Given the description of an element on the screen output the (x, y) to click on. 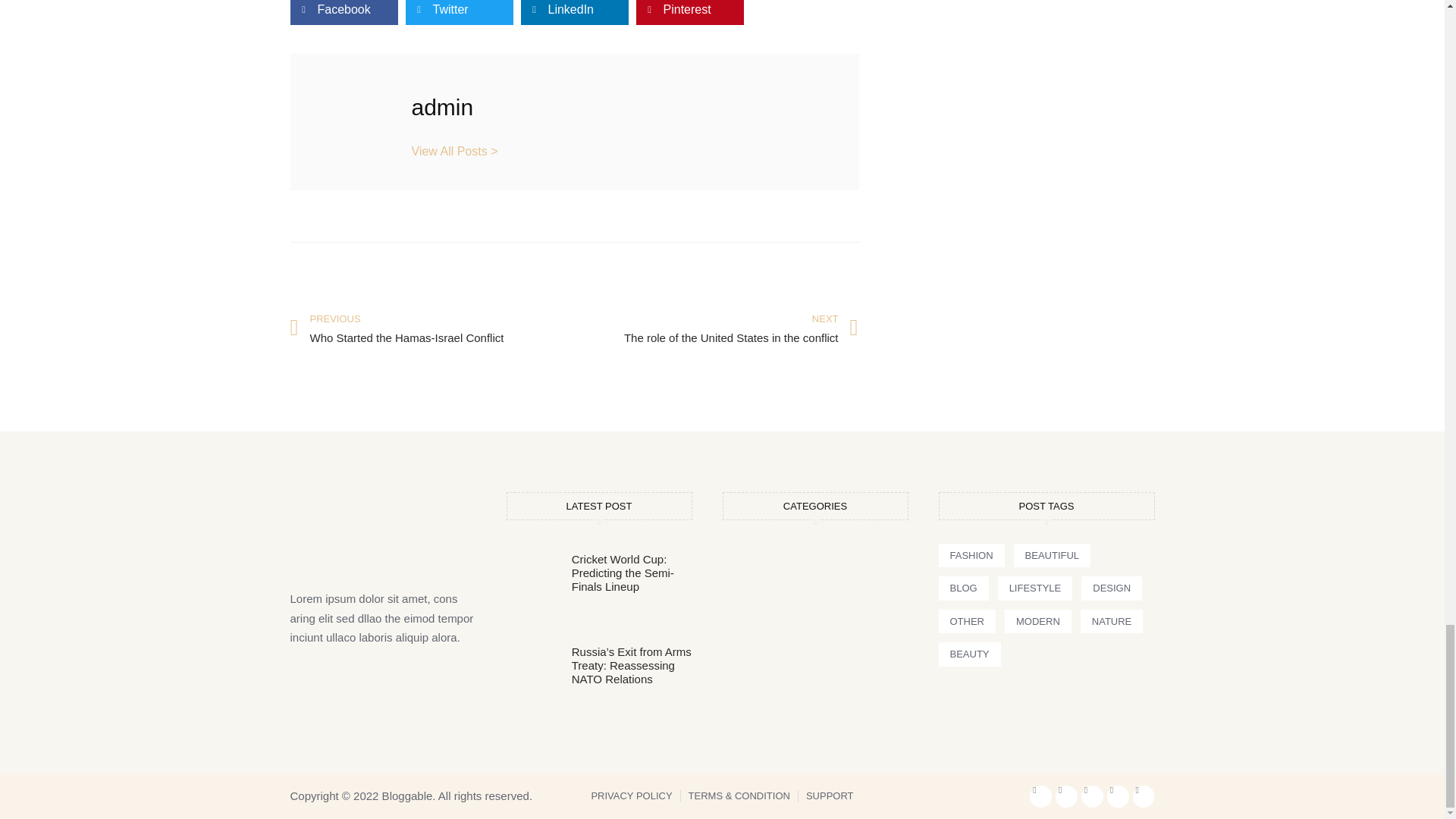
admin (431, 328)
